Given the description of an element on the screen output the (x, y) to click on. 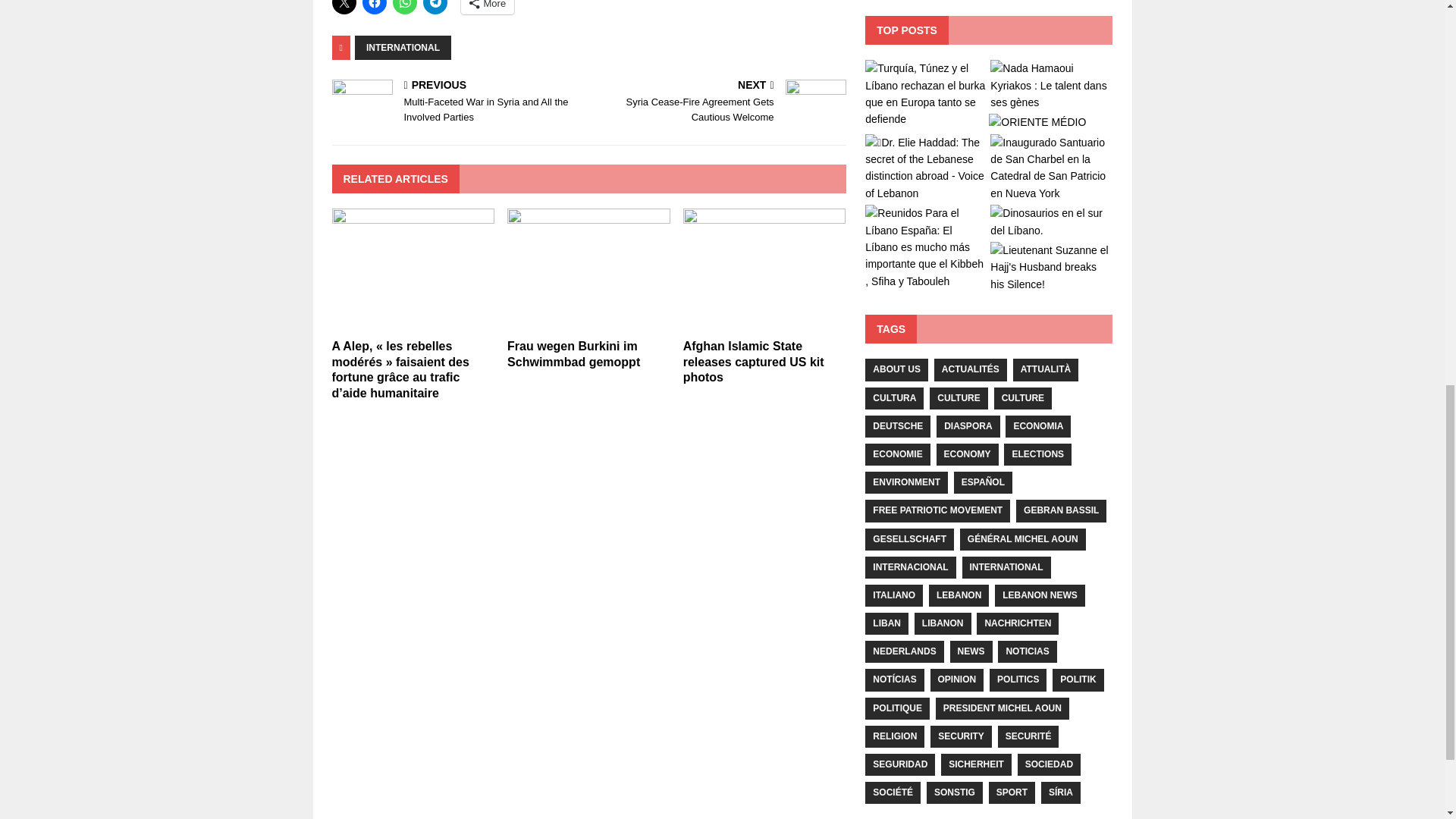
More (488, 7)
Click to share on WhatsApp (404, 7)
Click to share on Facebook (374, 7)
Click to share on X (343, 7)
Click to share on Telegram (434, 7)
